Given the description of an element on the screen output the (x, y) to click on. 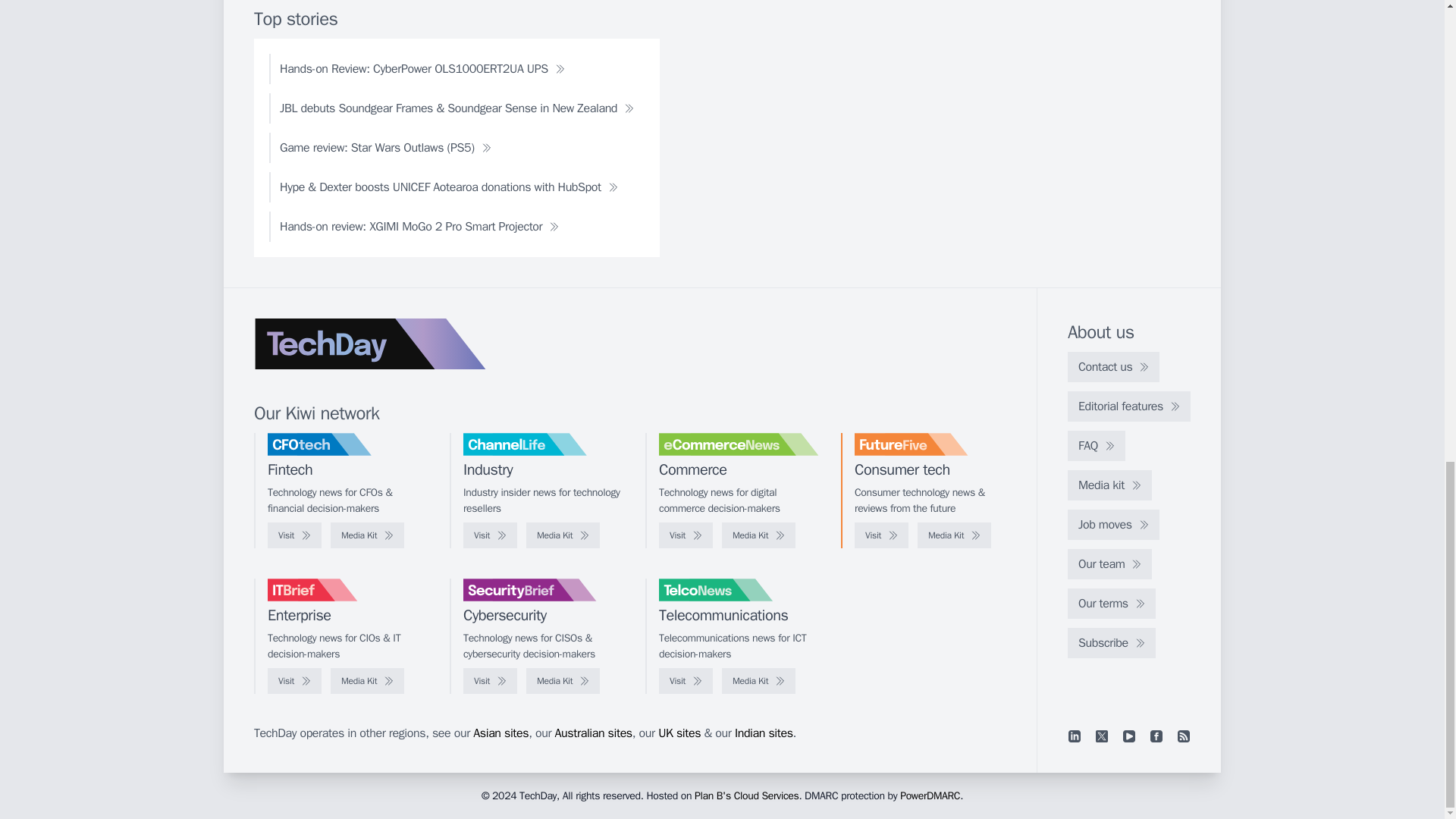
Media Kit (562, 534)
Visit (881, 534)
Visit (294, 534)
Hands-on review: XGIMI MoGo 2 Pro Smart Projector (419, 226)
Hands-on Review: CyberPower OLS1000ERT2UA UPS (422, 69)
Media Kit (758, 534)
Visit (489, 534)
Media Kit (954, 534)
Media Kit (367, 534)
Visit (686, 534)
